Given the description of an element on the screen output the (x, y) to click on. 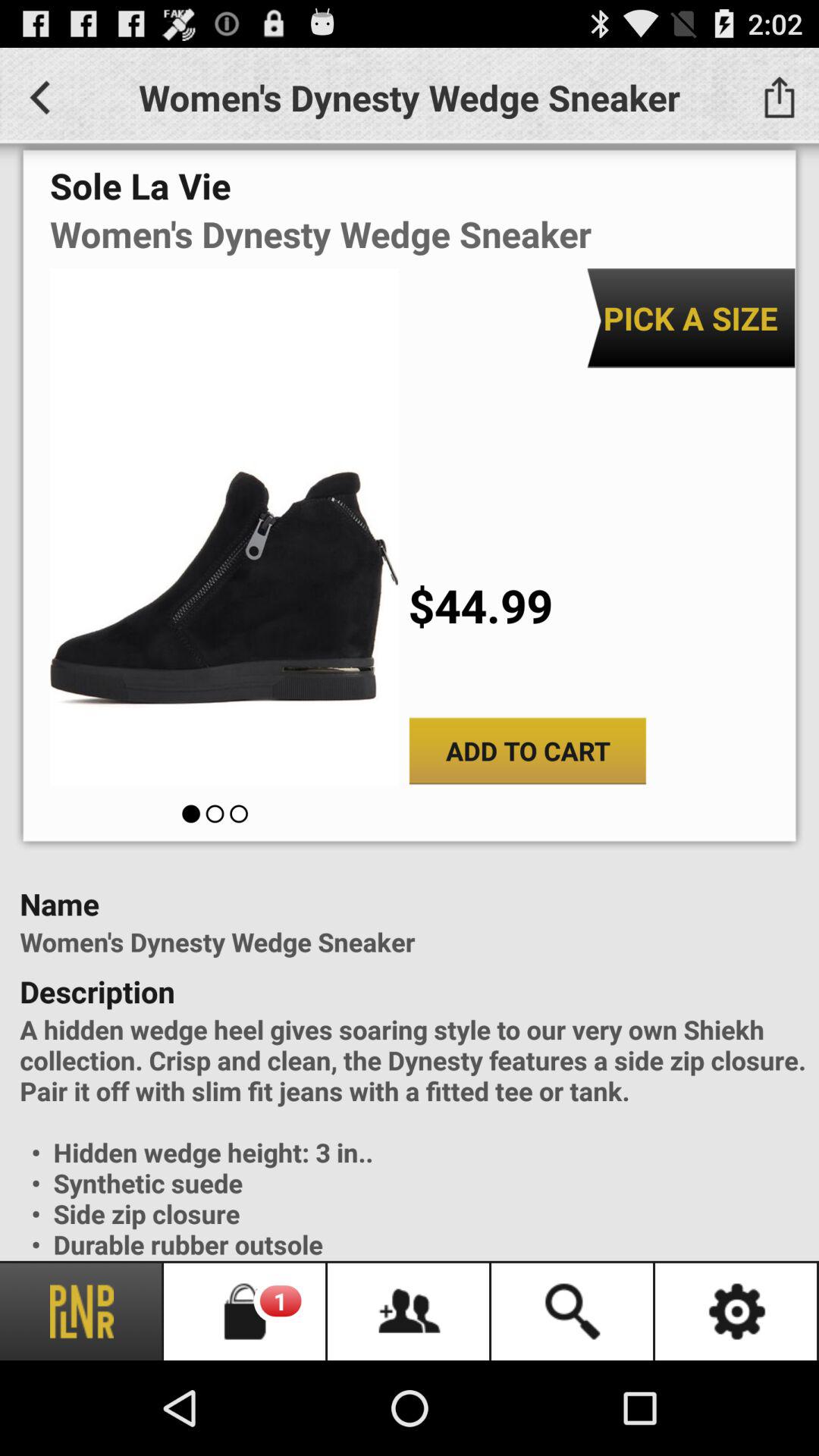
tap item above $44.99 (690, 317)
